Given the description of an element on the screen output the (x, y) to click on. 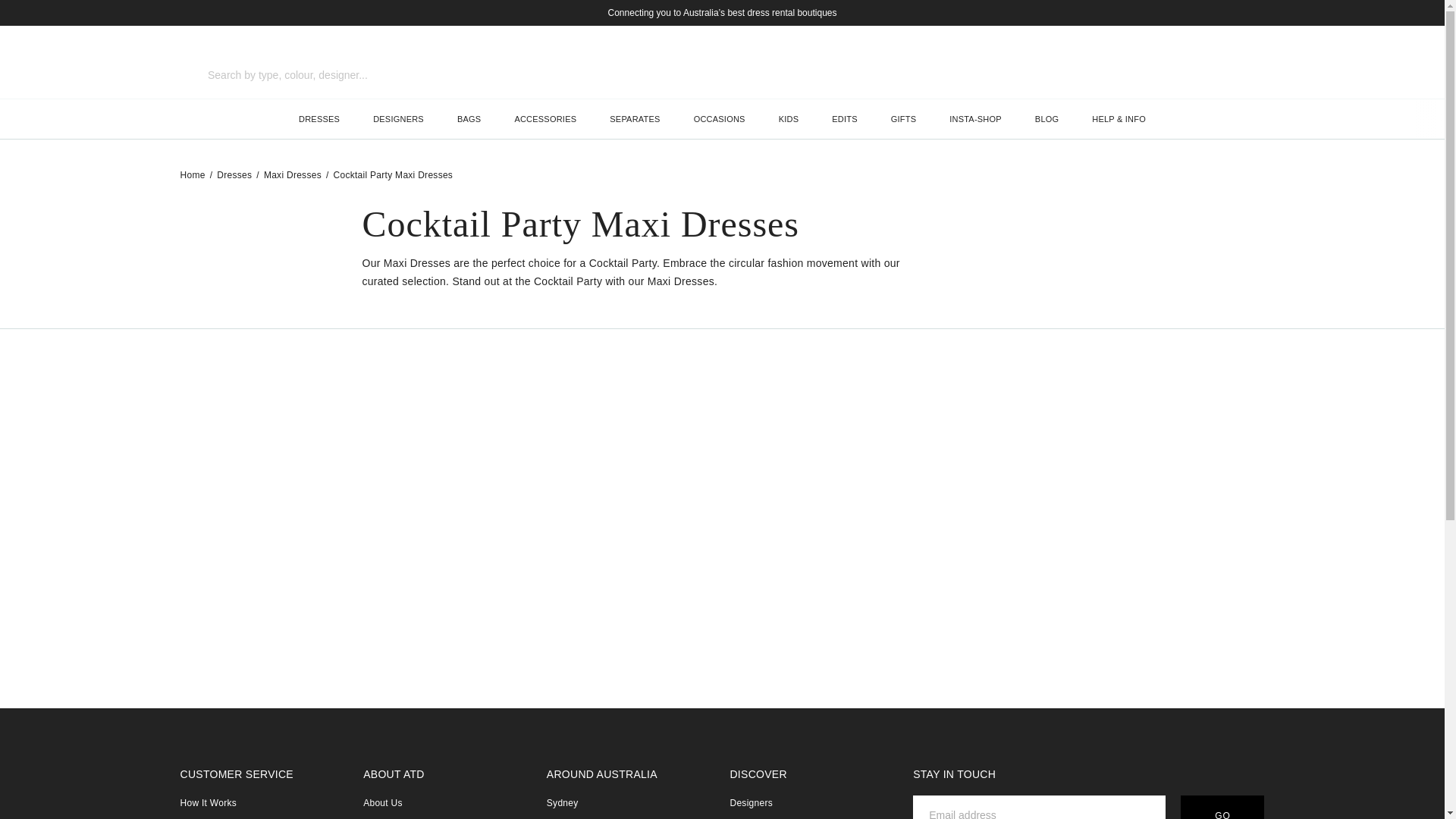
DESIGNERS (398, 118)
DRESSES (319, 118)
SEPARATES (634, 118)
OCCASIONS (719, 118)
INSTA-SHOP (975, 118)
ACCESSORIES (545, 118)
